Given the description of an element on the screen output the (x, y) to click on. 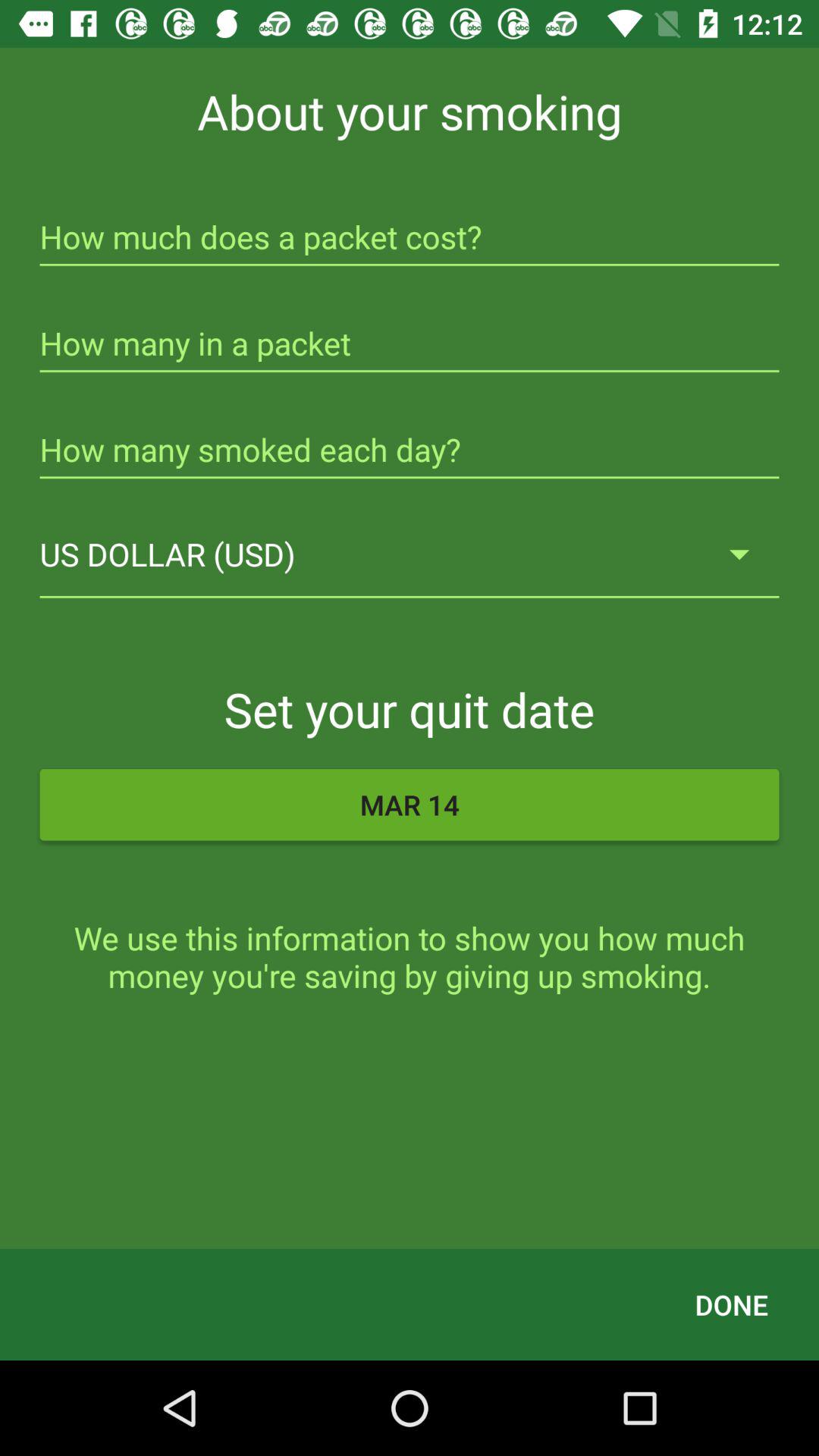
turn on item below the about your smoking item (409, 238)
